Given the description of an element on the screen output the (x, y) to click on. 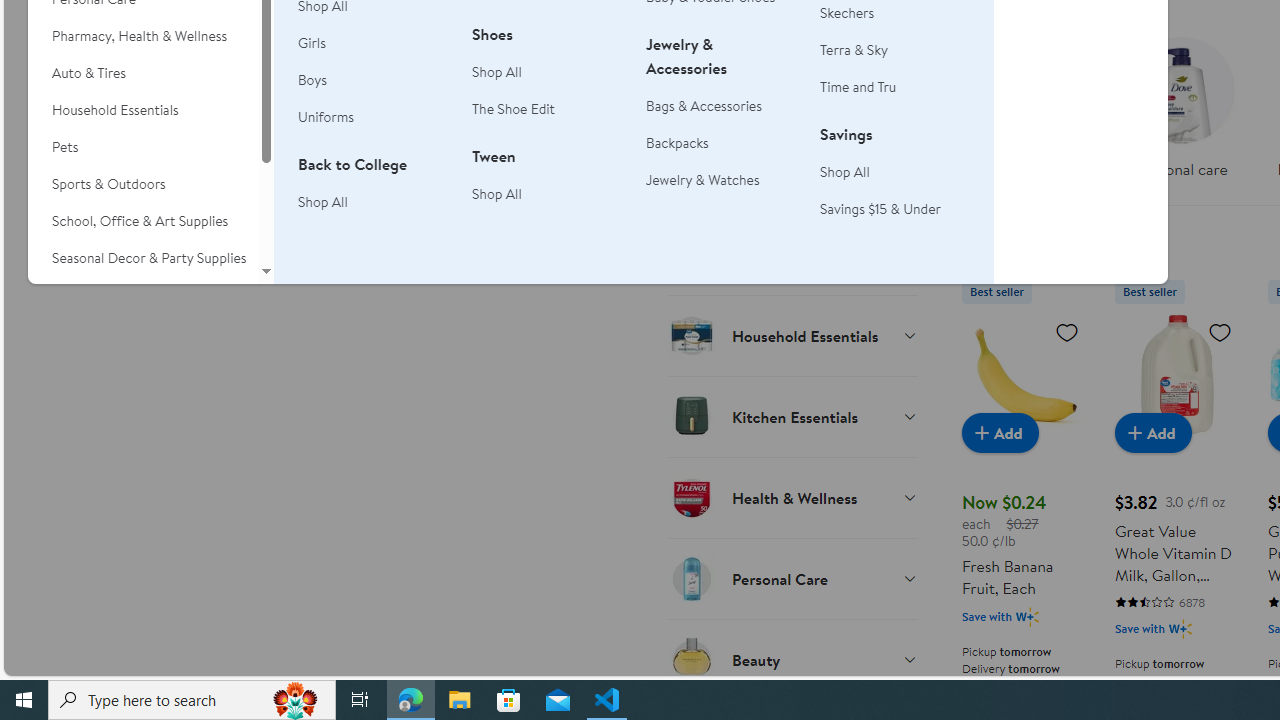
Bags & Accessories (721, 105)
Sports & Outdoors (143, 184)
Girls (373, 43)
Sign in to add to Favorites list, Fresh Banana Fruit, Each (1066, 331)
Skechers (895, 12)
Pets (143, 147)
Household essentials (1023, 114)
